Given the description of an element on the screen output the (x, y) to click on. 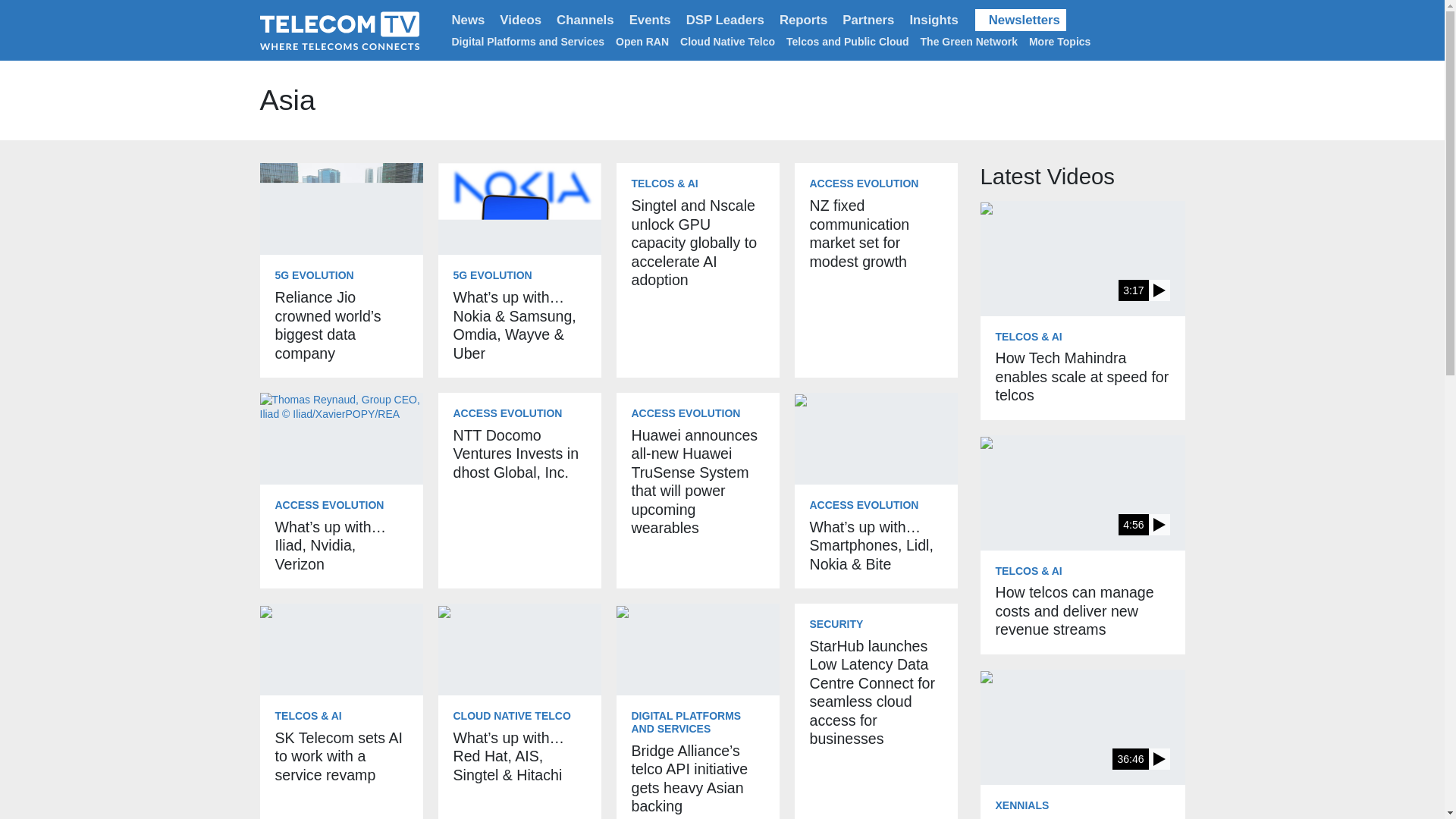
Newsletters (1020, 20)
More Topics (1062, 41)
DSP Leaders (724, 20)
Digital Platforms and Services (528, 41)
Videos (520, 20)
Insights (932, 20)
The Green Network (968, 41)
Open RAN (641, 41)
Channels (585, 20)
News (468, 20)
